Given the description of an element on the screen output the (x, y) to click on. 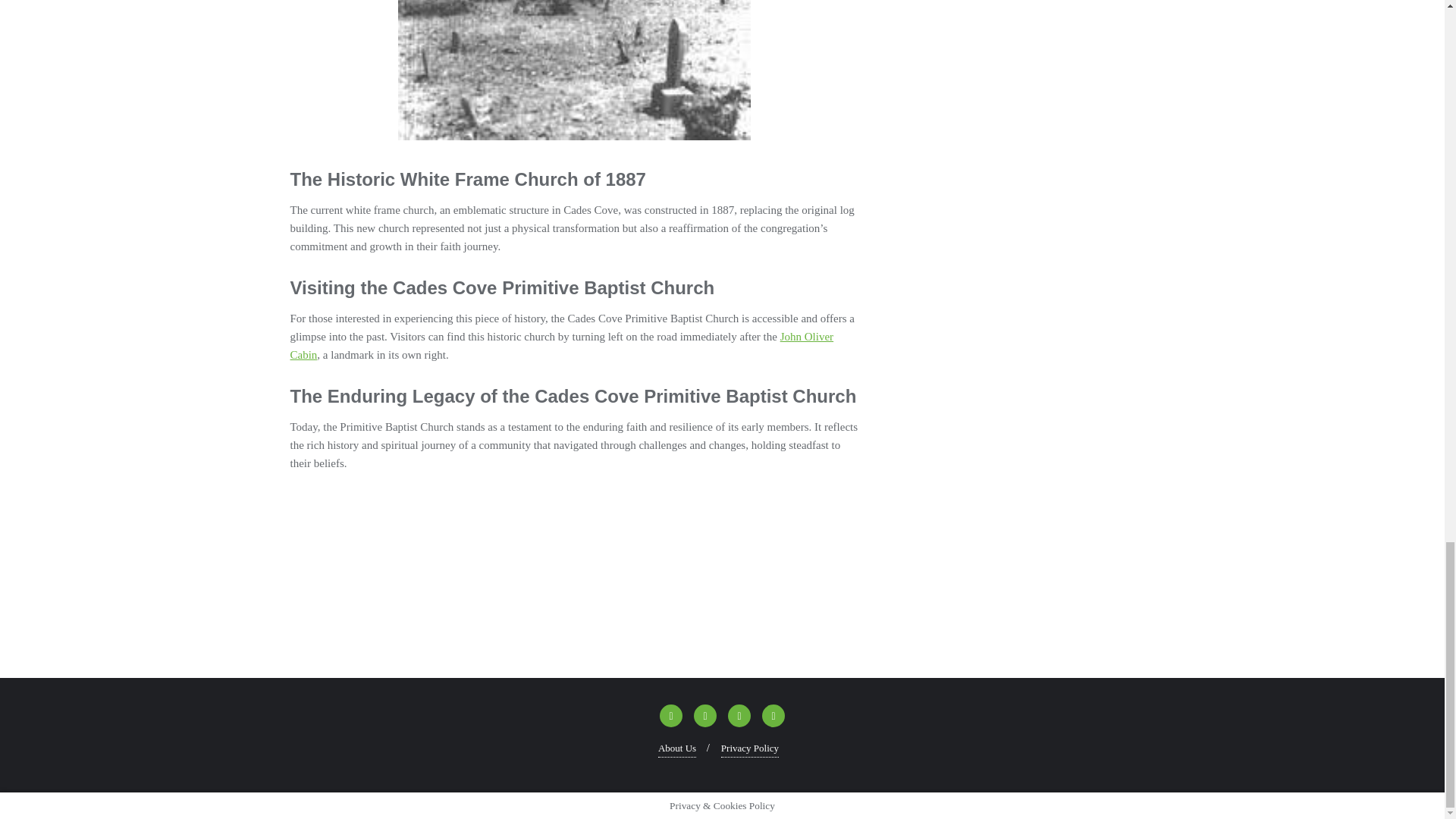
John Oliver Cabin (560, 345)
About Us (676, 748)
Privacy Policy (749, 748)
Primitive Baptist Church cades cove townsend tn (402, 544)
